Given the description of an element on the screen output the (x, y) to click on. 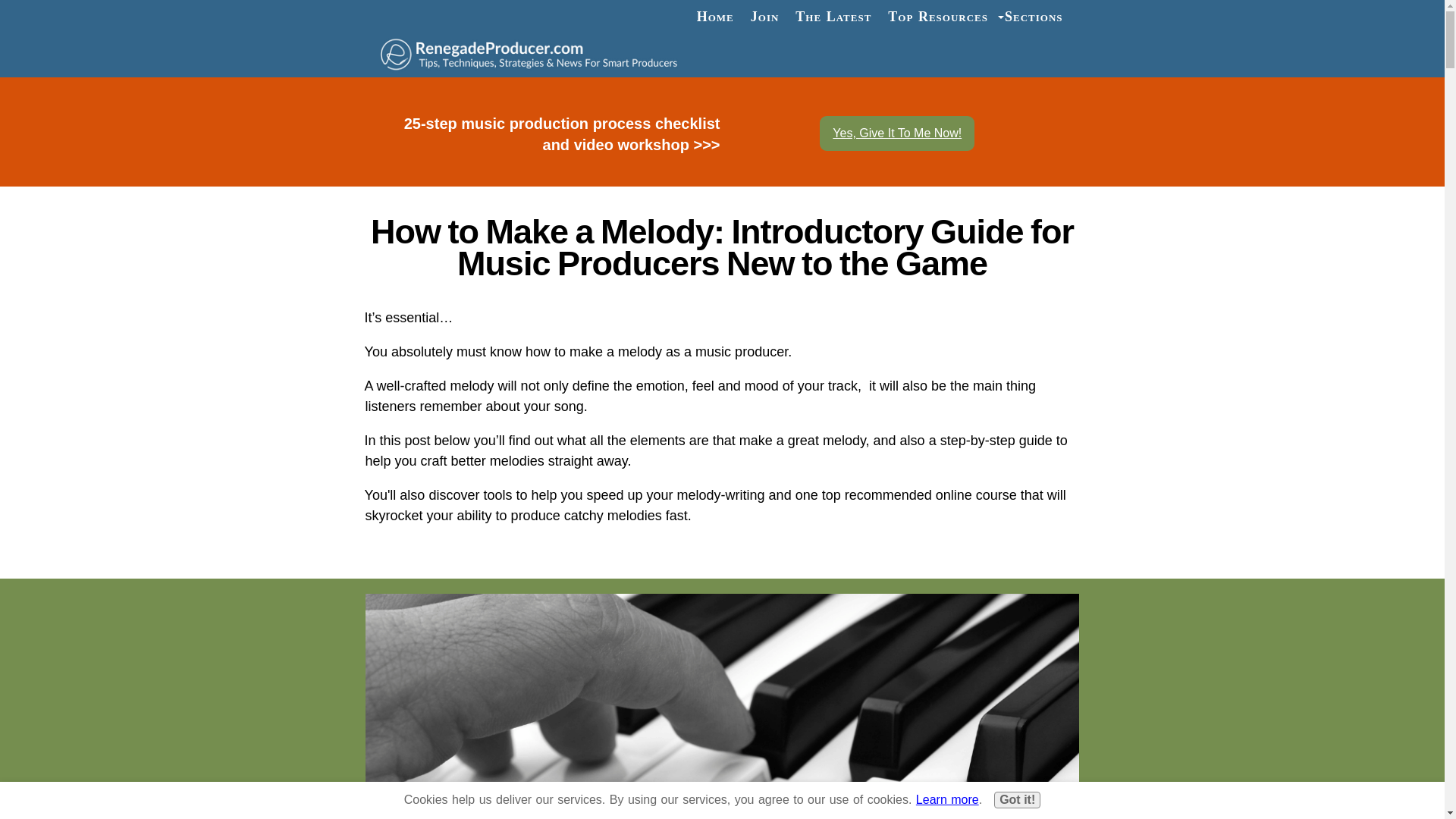
Join (764, 16)
Yes, Give It To Me Now! (896, 133)
Home (715, 16)
The Latest (833, 16)
Top Resources (937, 16)
